Given the description of an element on the screen output the (x, y) to click on. 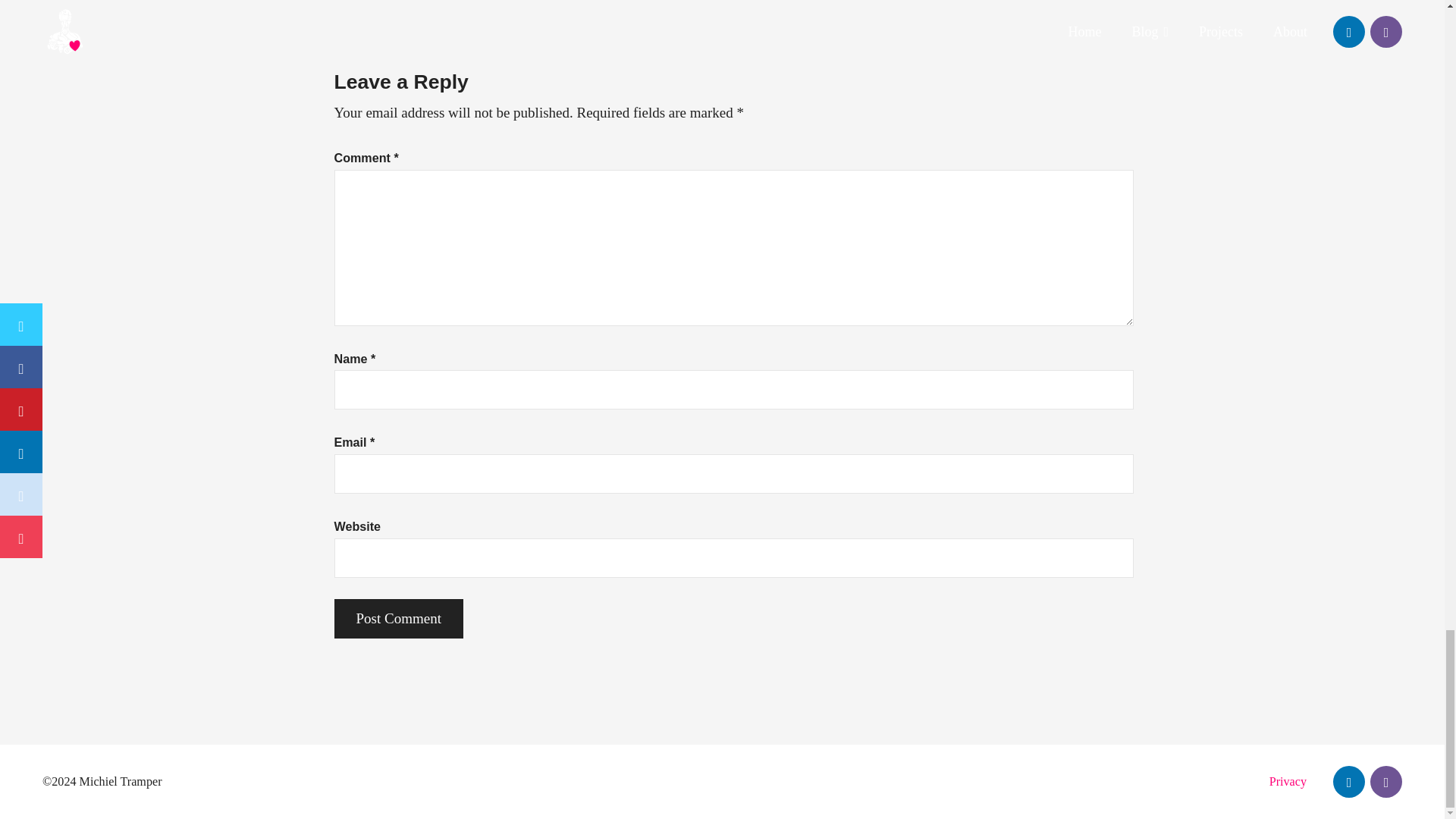
Github (1386, 781)
Linkedin (1349, 781)
Post Comment (398, 618)
Post Comment (398, 618)
